Given the description of an element on the screen output the (x, y) to click on. 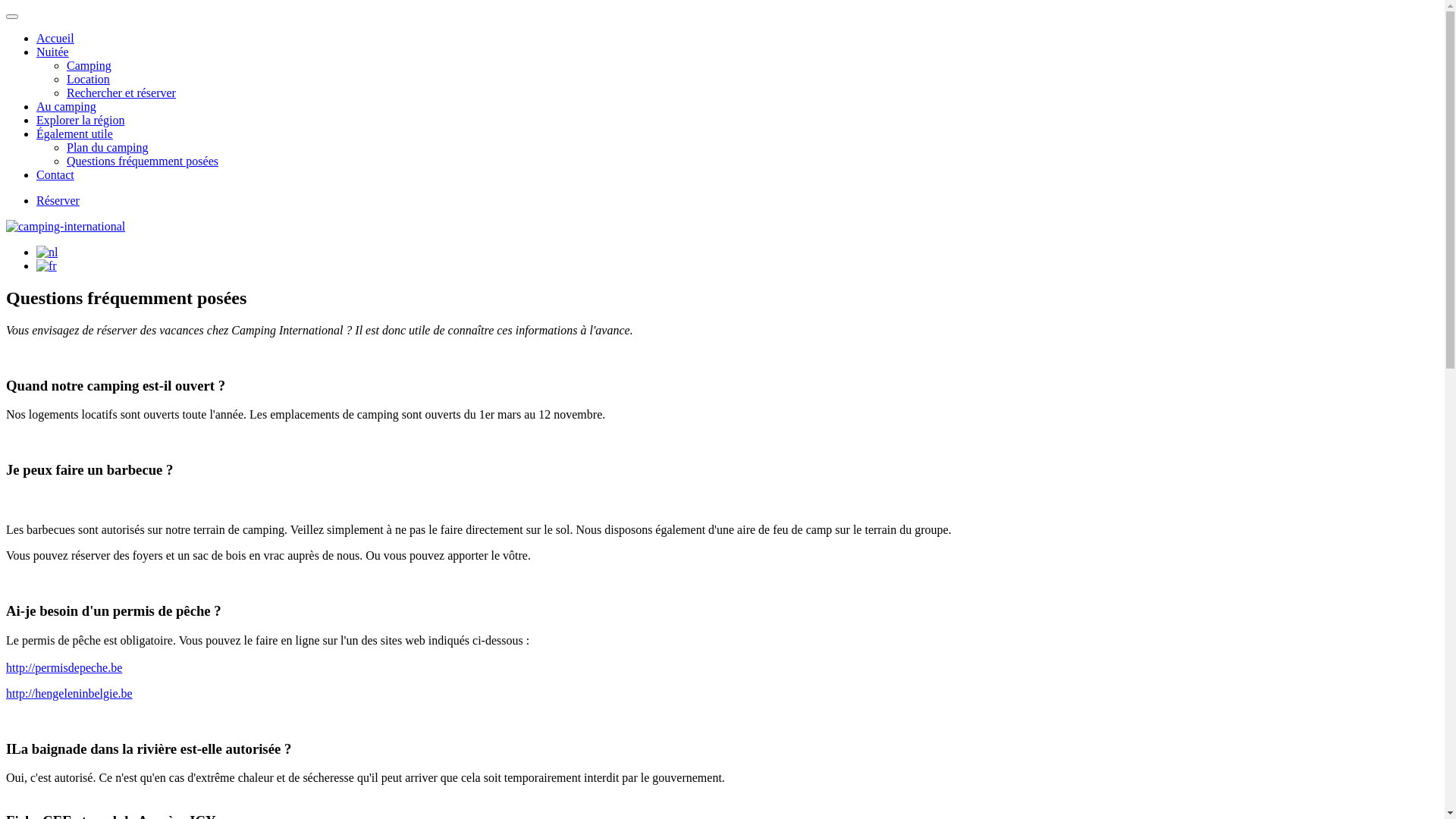
Contact Element type: text (55, 174)
Accueil Element type: text (55, 37)
Camping Element type: text (88, 65)
Au camping Element type: text (66, 106)
Plan du camping Element type: text (107, 147)
http://hengeleninbelgie.be Element type: text (69, 693)
http://permisdepeche.be Element type: text (64, 667)
Location Element type: text (87, 78)
